Given the description of an element on the screen output the (x, y) to click on. 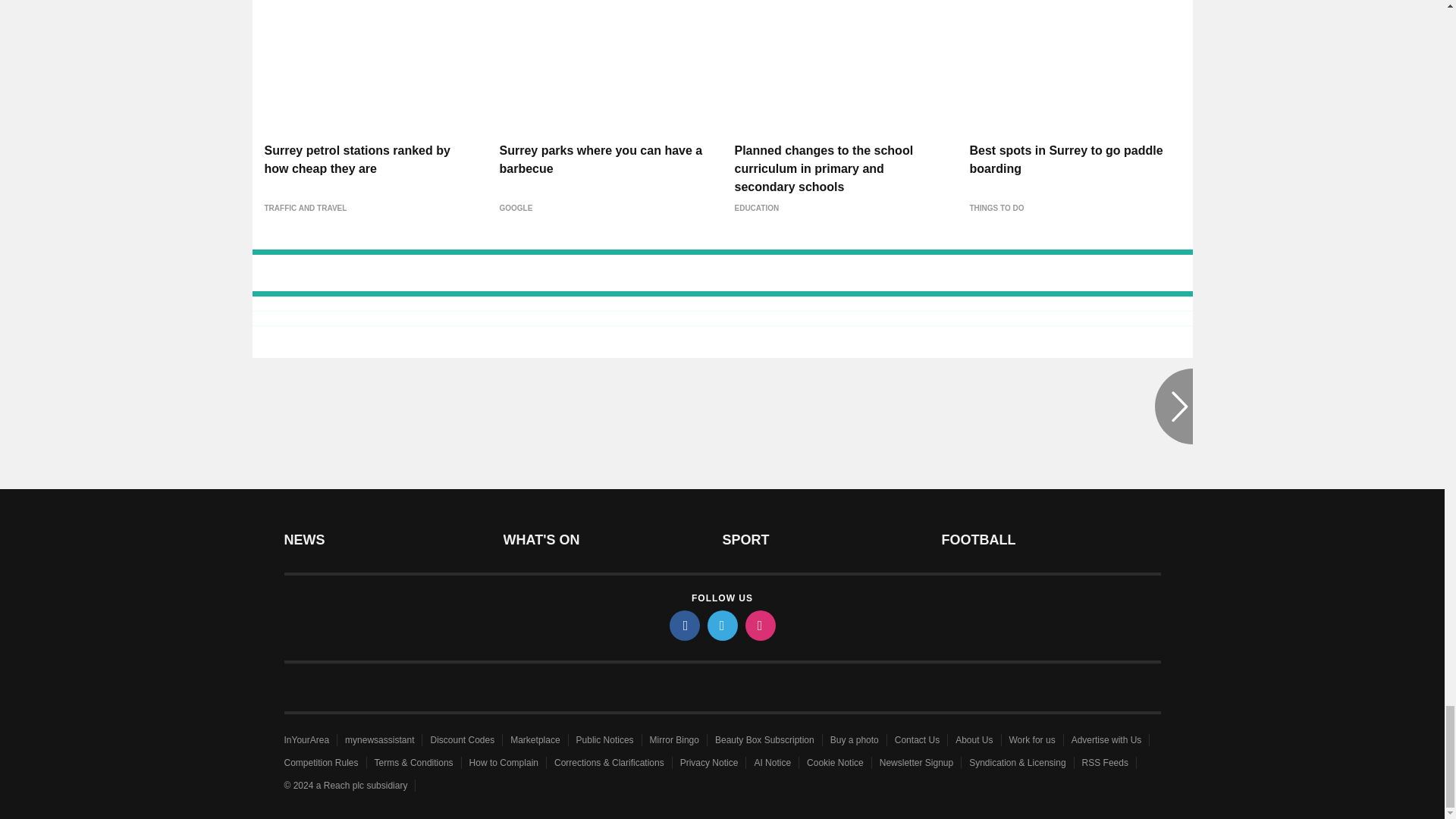
twitter (721, 625)
facebook (683, 625)
instagram (759, 625)
